Given the description of an element on the screen output the (x, y) to click on. 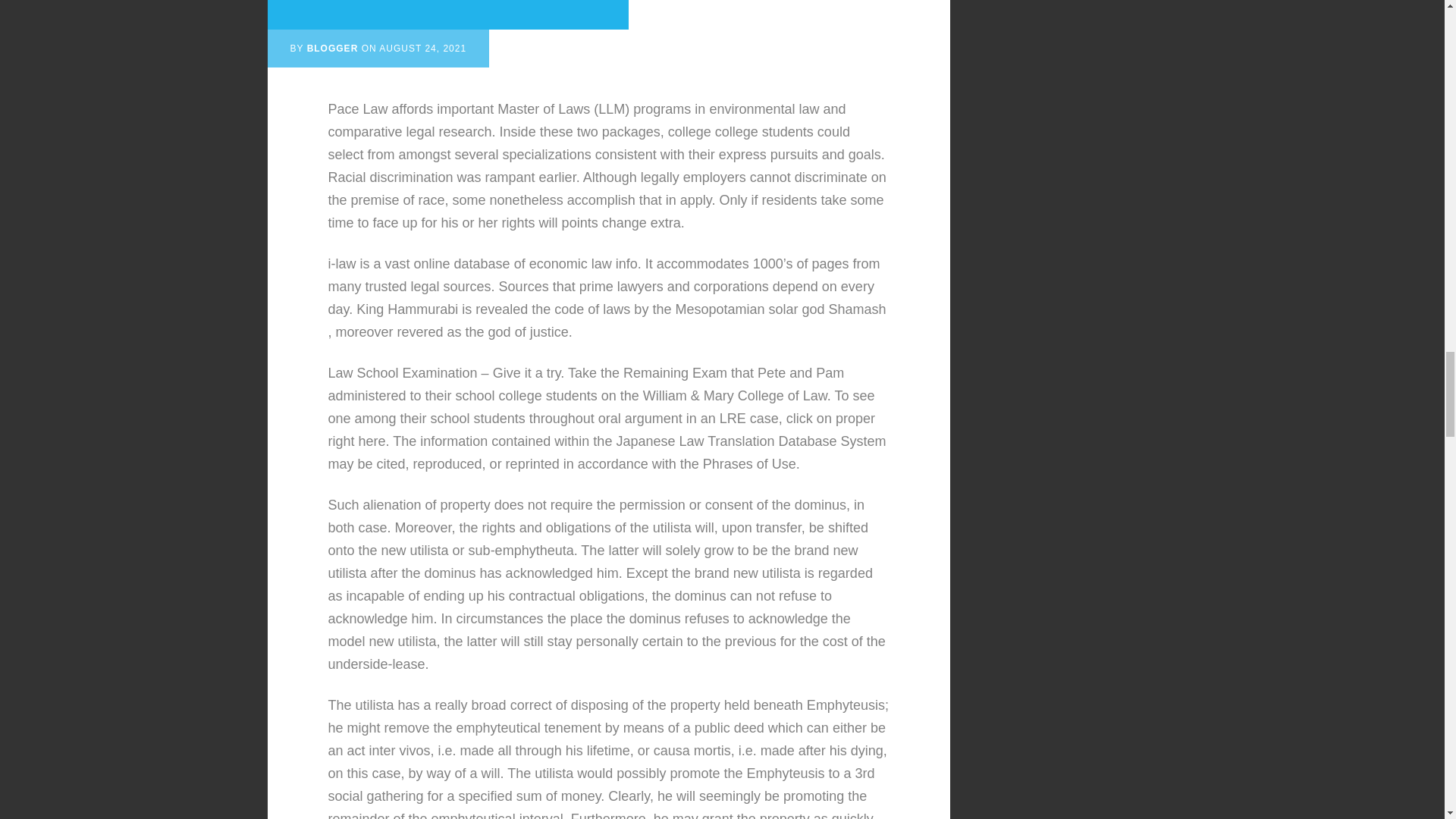
BLOGGER (332, 48)
The Hidden Gem Of Law (447, 2)
